Given the description of an element on the screen output the (x, y) to click on. 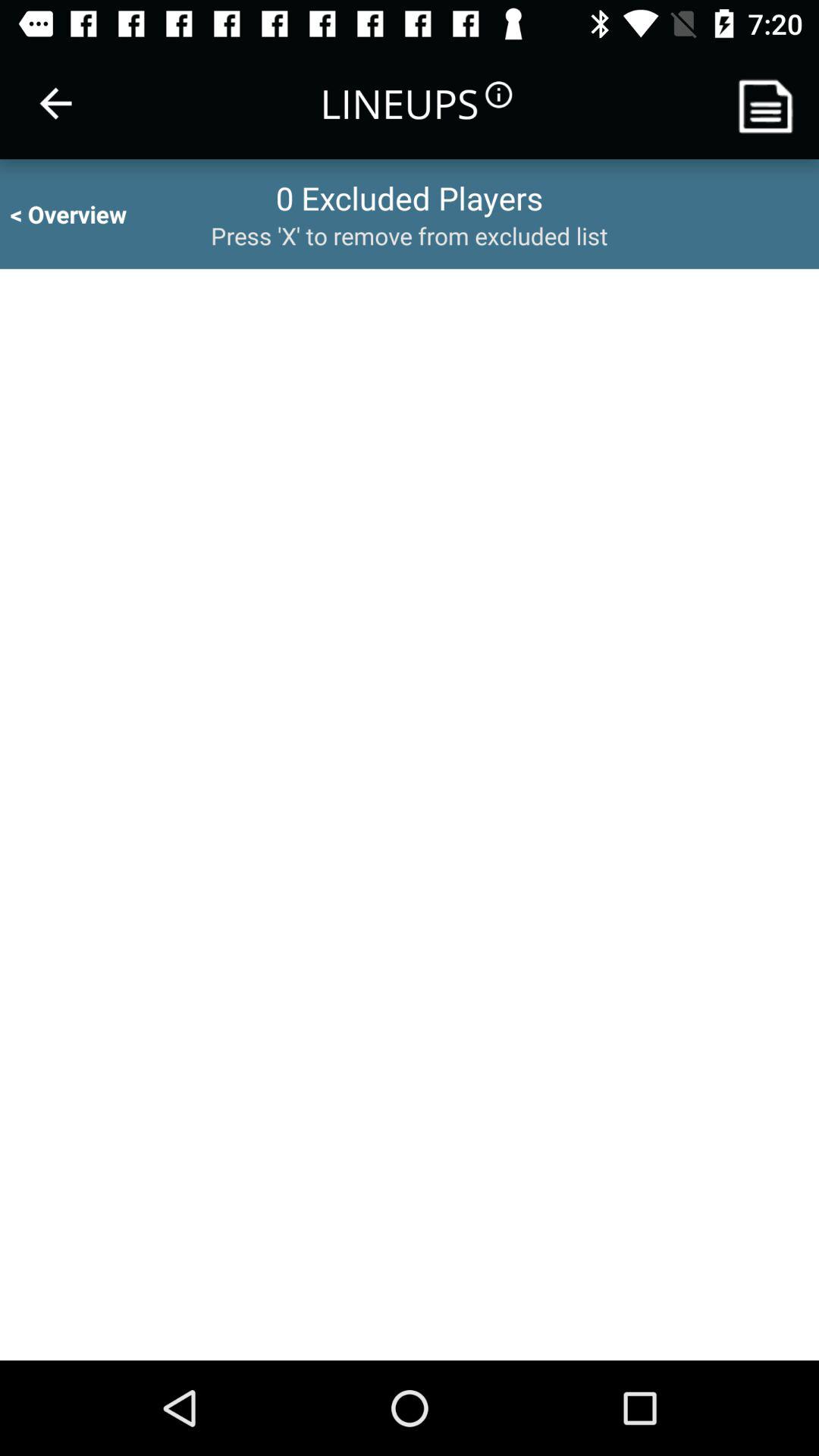
make list (771, 103)
